Given the description of an element on the screen output the (x, y) to click on. 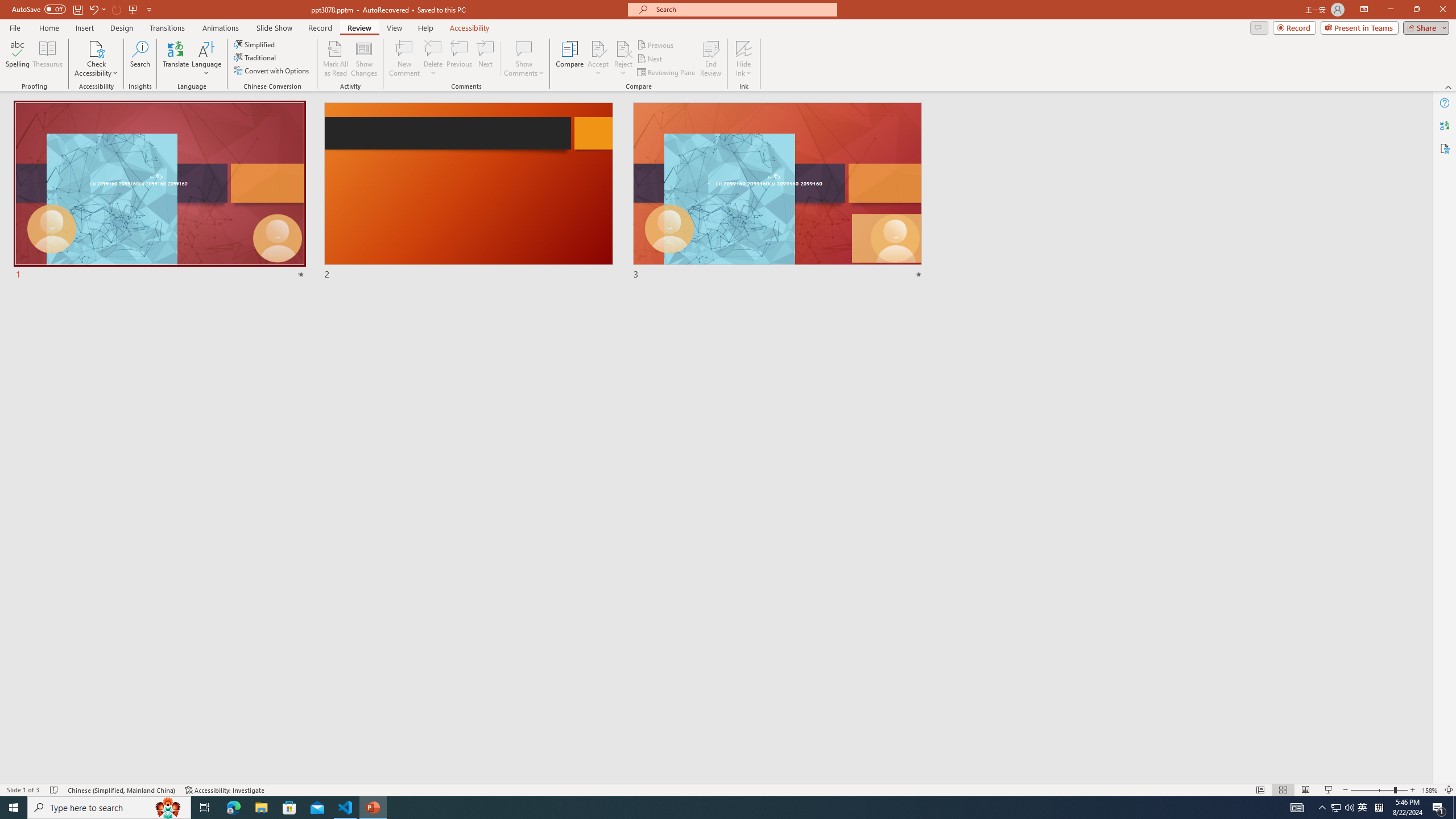
Hide Ink (743, 58)
Reject (622, 58)
Delete (432, 48)
Reviewing Pane (666, 72)
Mark All as Read (335, 58)
New Comment (403, 58)
Zoom 158% (1430, 790)
